Given the description of an element on the screen output the (x, y) to click on. 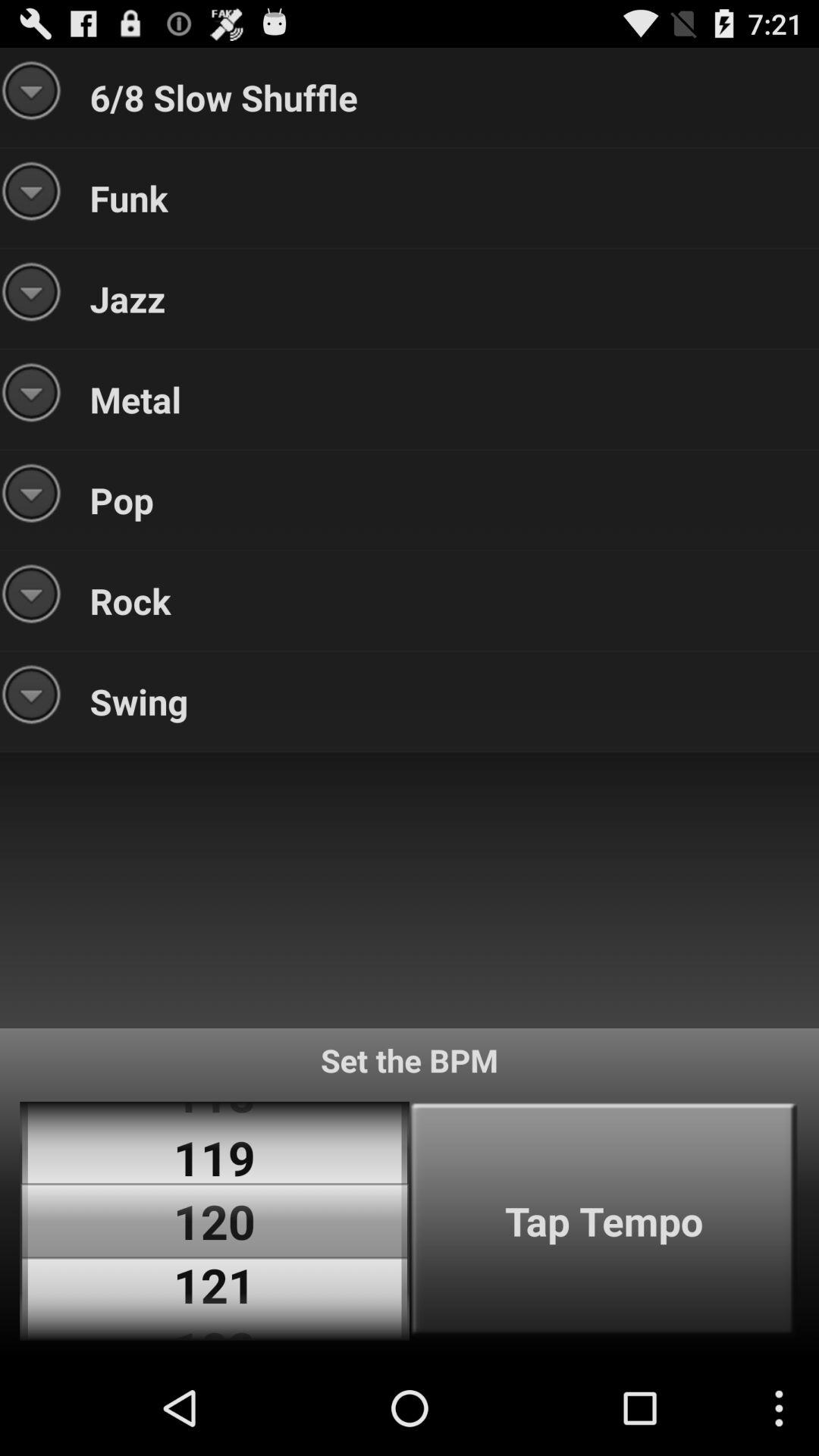
jump to tap tempo icon (604, 1220)
